Given the description of an element on the screen output the (x, y) to click on. 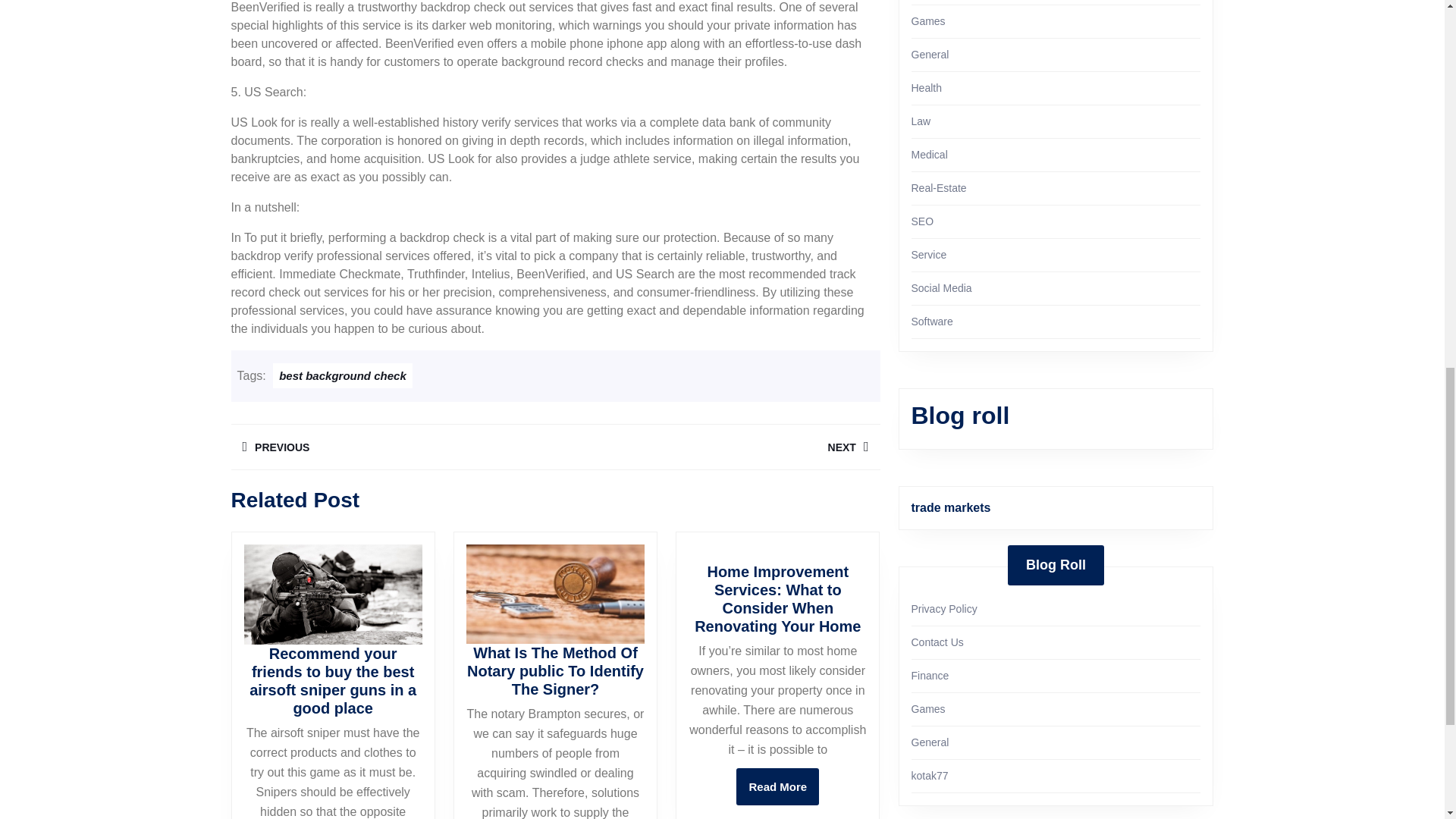
Law (921, 121)
Games (927, 21)
Medical (392, 447)
best background check (777, 786)
Health (929, 154)
General (716, 447)
